Given the description of an element on the screen output the (x, y) to click on. 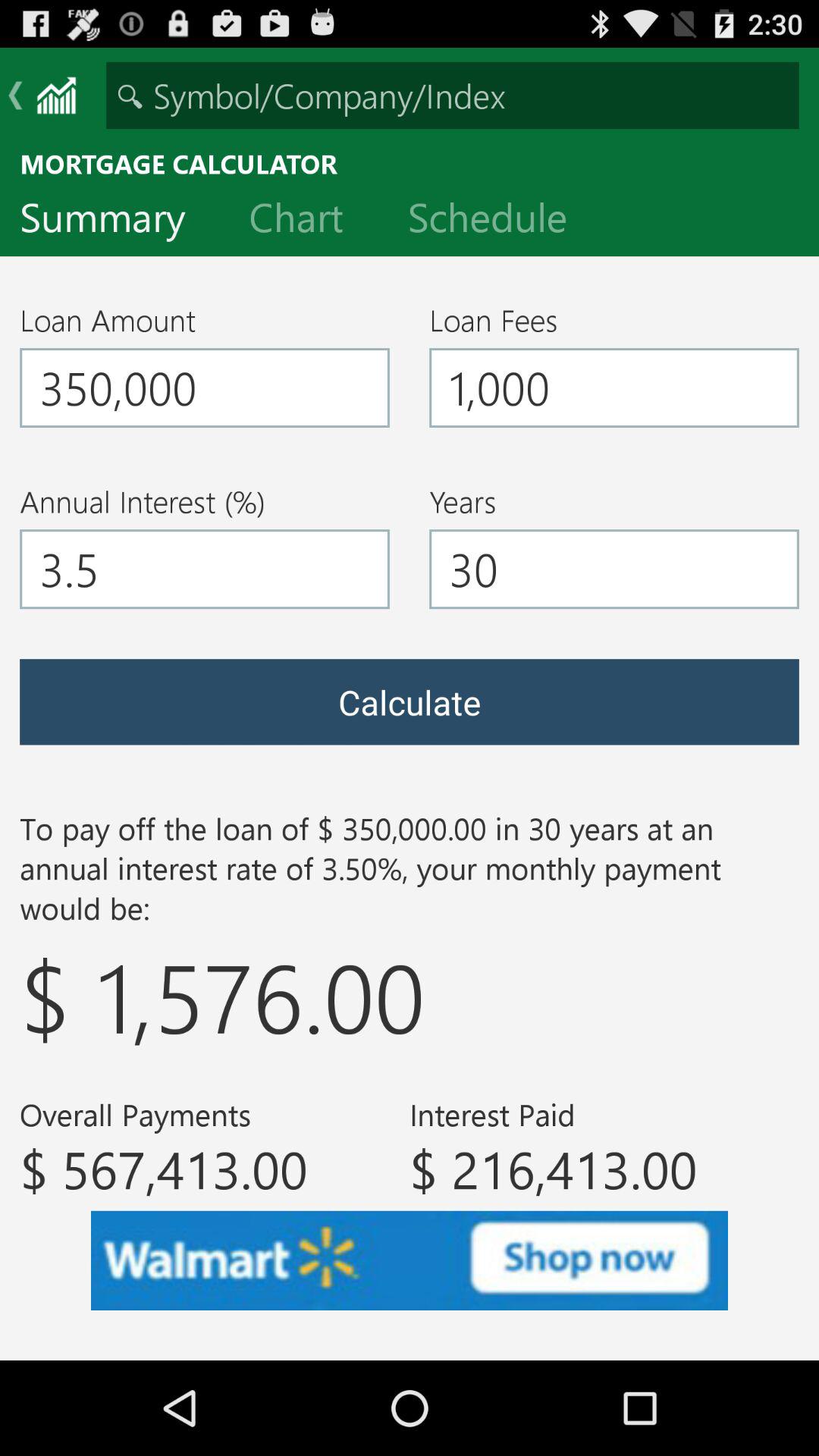
choose item above mortgage calculator (452, 95)
